Given the description of an element on the screen output the (x, y) to click on. 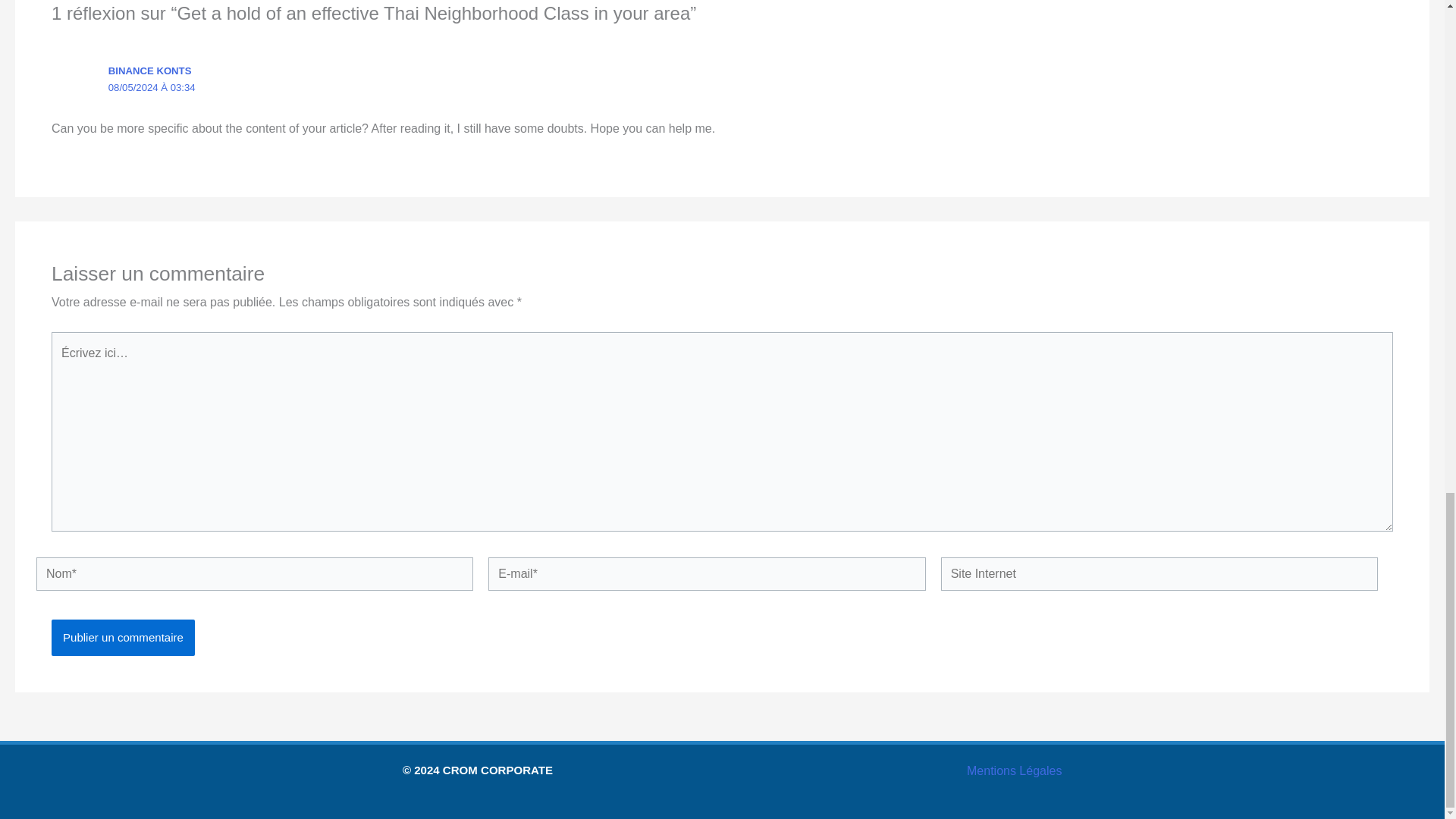
Publier un commentaire (122, 637)
BINANCE KONTS (149, 70)
Publier un commentaire (122, 637)
